Given the description of an element on the screen output the (x, y) to click on. 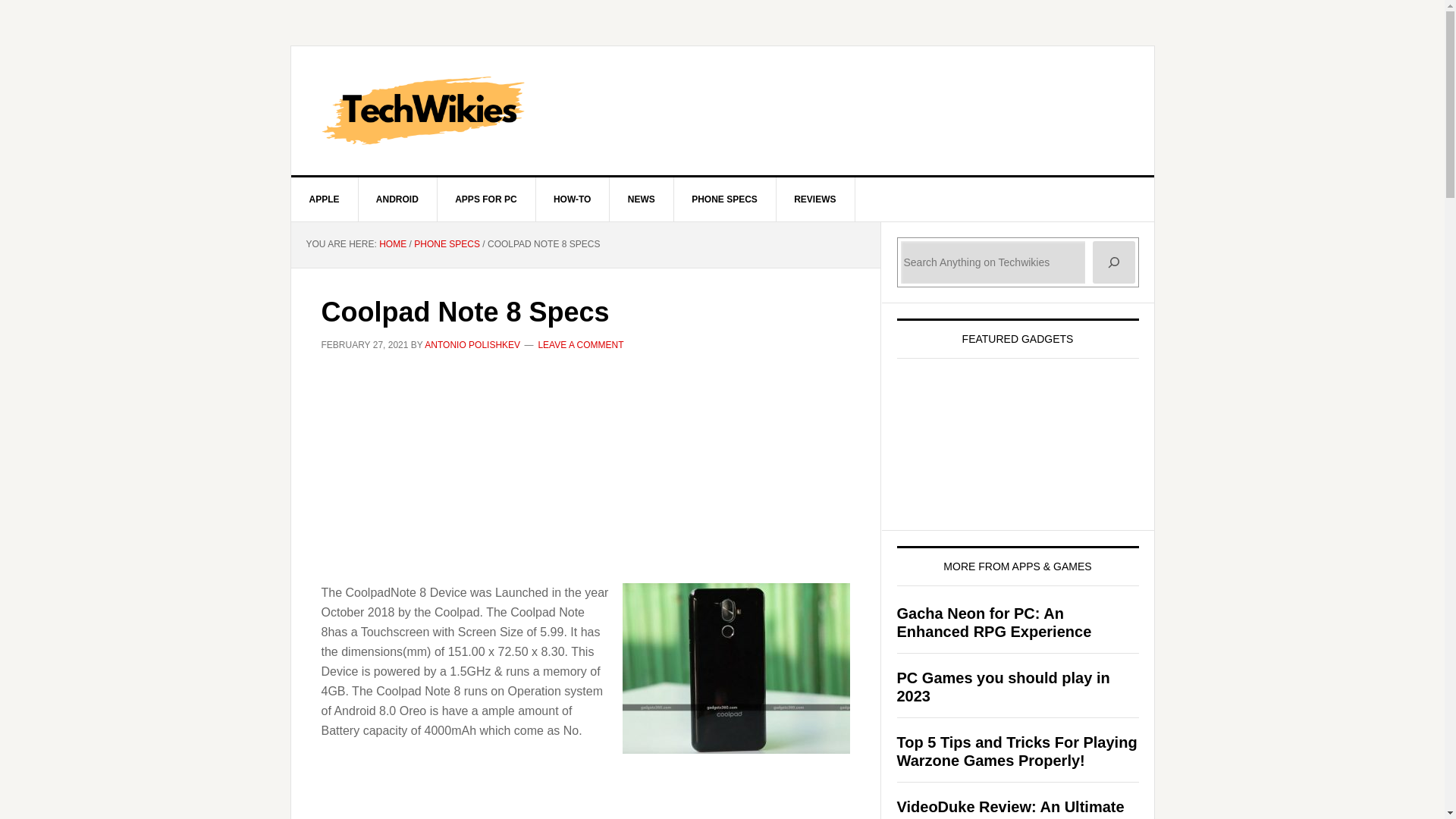
REVIEWS (815, 199)
Advertisement (585, 795)
PHONE SPECS (724, 199)
HOME (392, 244)
Top 5 Tips and Tricks For Playing Warzone Games Properly! (1016, 751)
ANDROID (398, 199)
14 Cool Gadgets Men can't Resist Buying from Amazon (1010, 433)
LEAVE A COMMENT (580, 344)
TECHWIKIES.COM (722, 110)
